Given the description of an element on the screen output the (x, y) to click on. 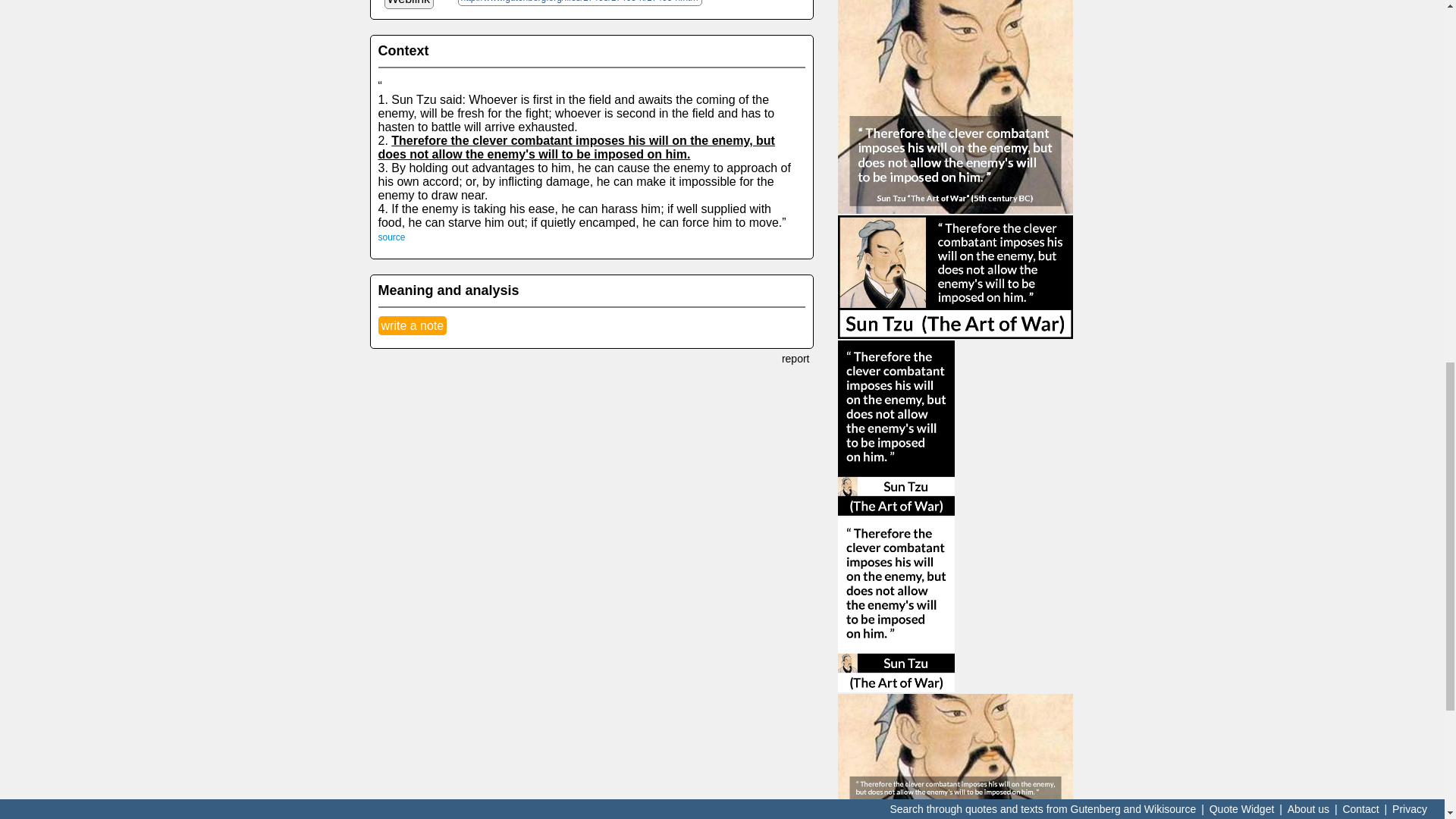
Sun Tzu quote about enemies from The Art of War (955, 755)
Sun Tzu quote about enemies from The Art of War (955, 106)
Sun Tzu quote about enemies from The Art of War (955, 277)
write a note (411, 325)
source (390, 236)
